Given the description of an element on the screen output the (x, y) to click on. 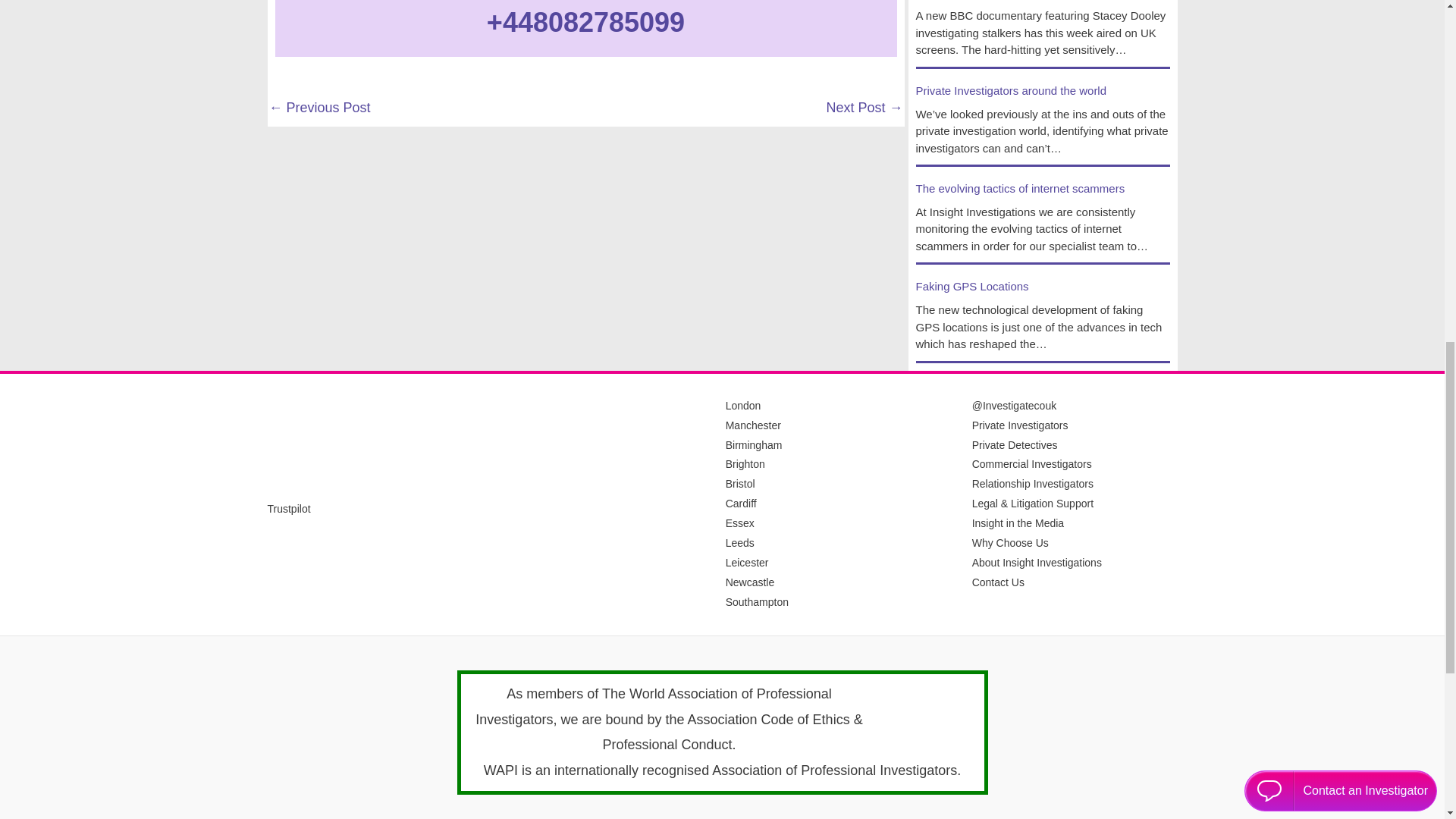
Private Investigators Can Help Provide Peace of Mind (318, 109)
How Private Investigators Stay Safe (863, 109)
